Given the description of an element on the screen output the (x, y) to click on. 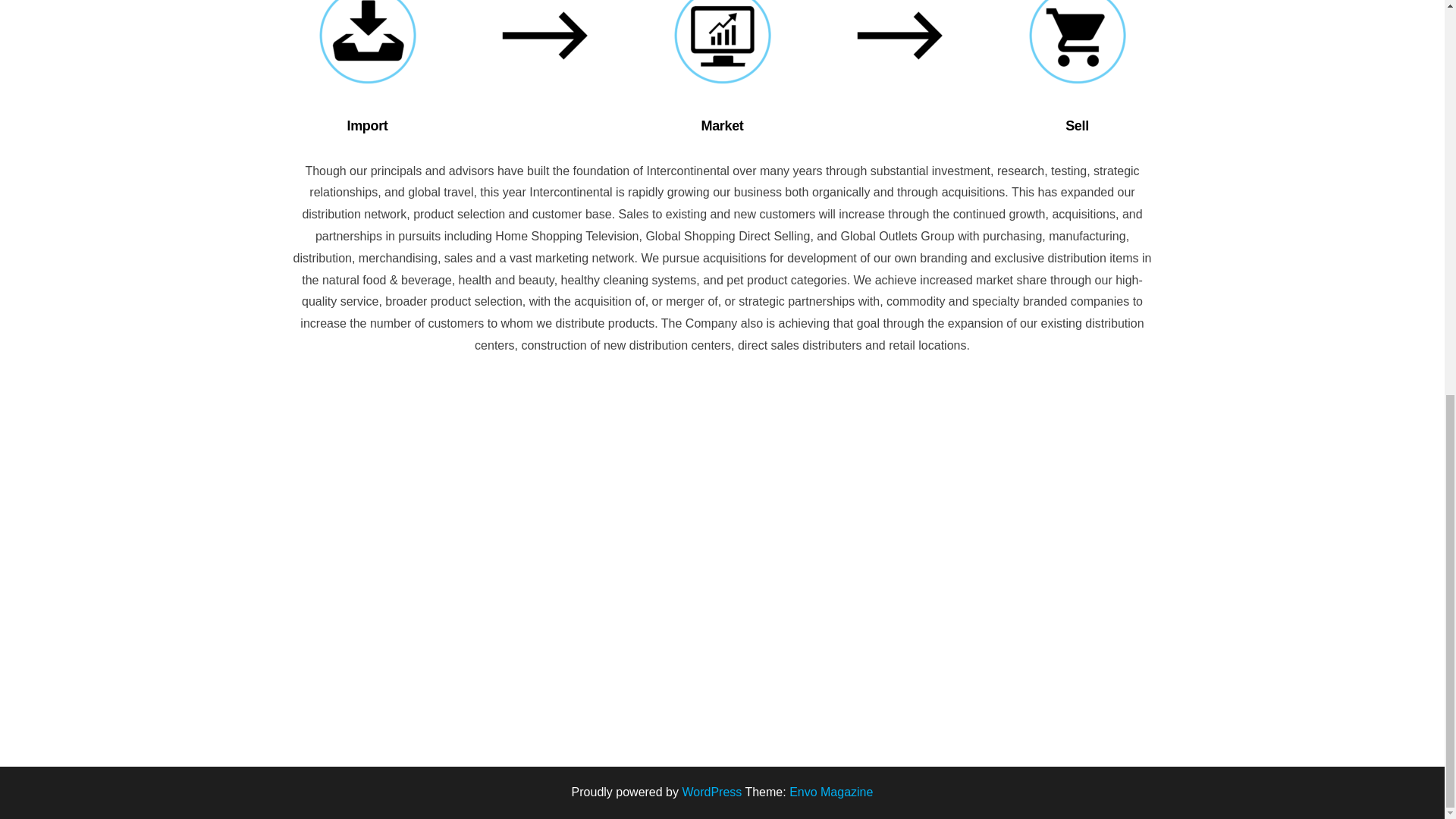
Envo Magazine (830, 791)
WordPress (711, 791)
